Given the description of an element on the screen output the (x, y) to click on. 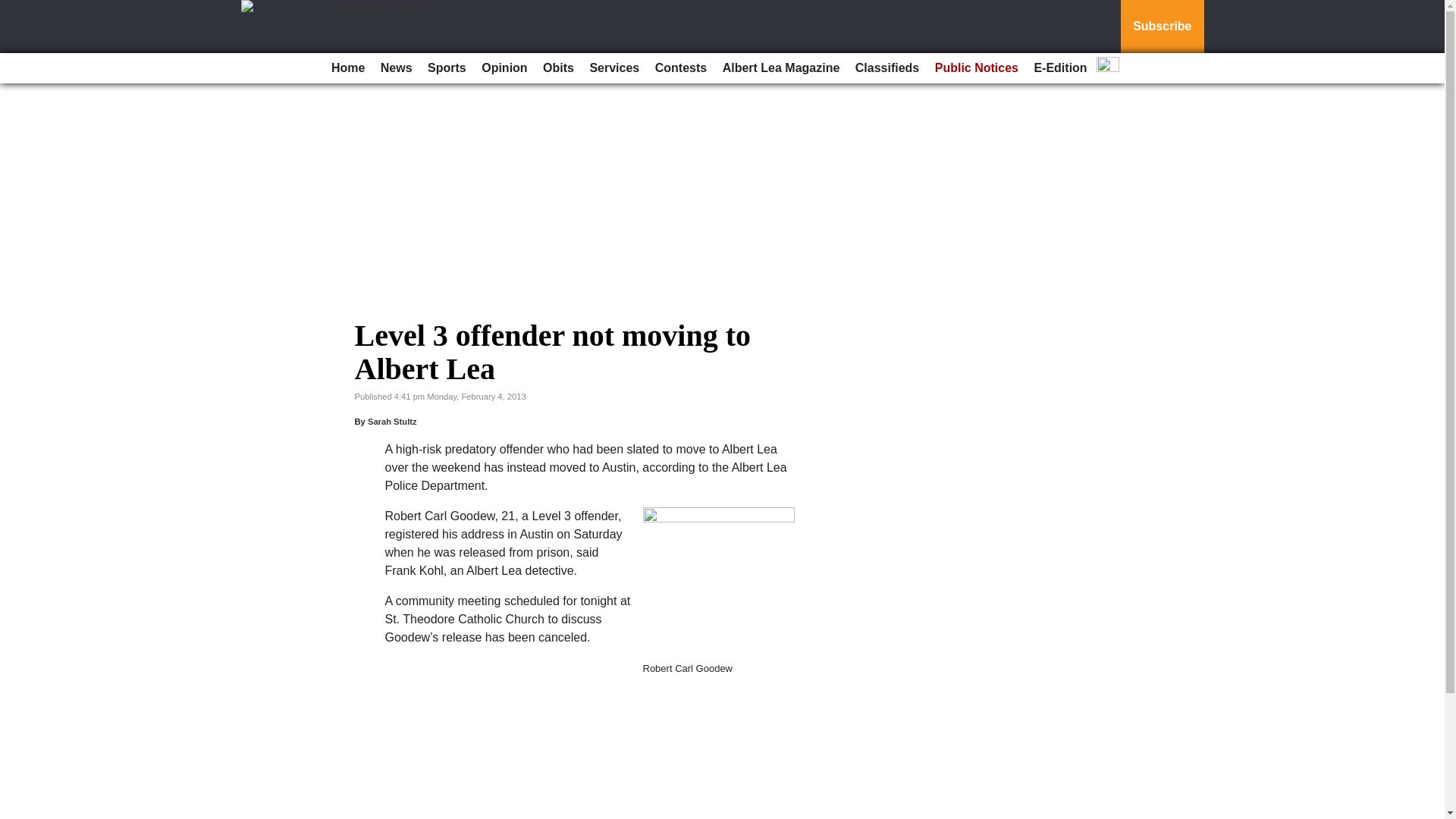
News (396, 68)
Goodew.Robert (718, 583)
Opinion (504, 68)
Subscribe (1162, 26)
Obits (558, 68)
Home (347, 68)
Services (614, 68)
Sports (446, 68)
